Given the description of an element on the screen output the (x, y) to click on. 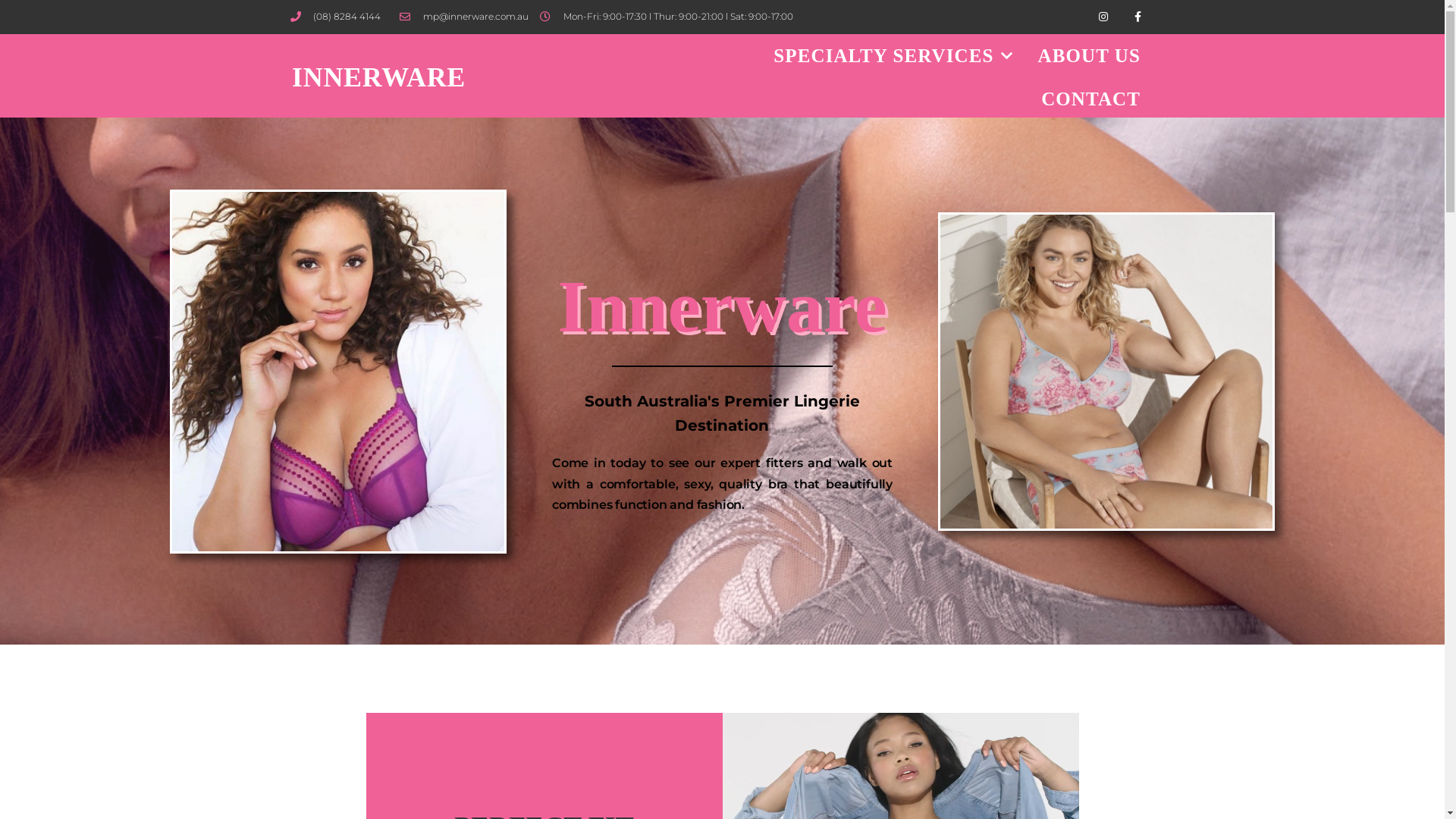
(08) 8284 4144 Element type: text (334, 16)
yy4j_9qg_9 smaller Element type: hover (1106, 371)
CONTACT Element type: text (1090, 98)
SPECIALTY SERVICES Element type: text (893, 55)
mp@innerware.com.au Element type: text (463, 16)
ABOUT US Element type: text (1089, 55)
INNERWARE Element type: text (378, 77)
